Given the description of an element on the screen output the (x, y) to click on. 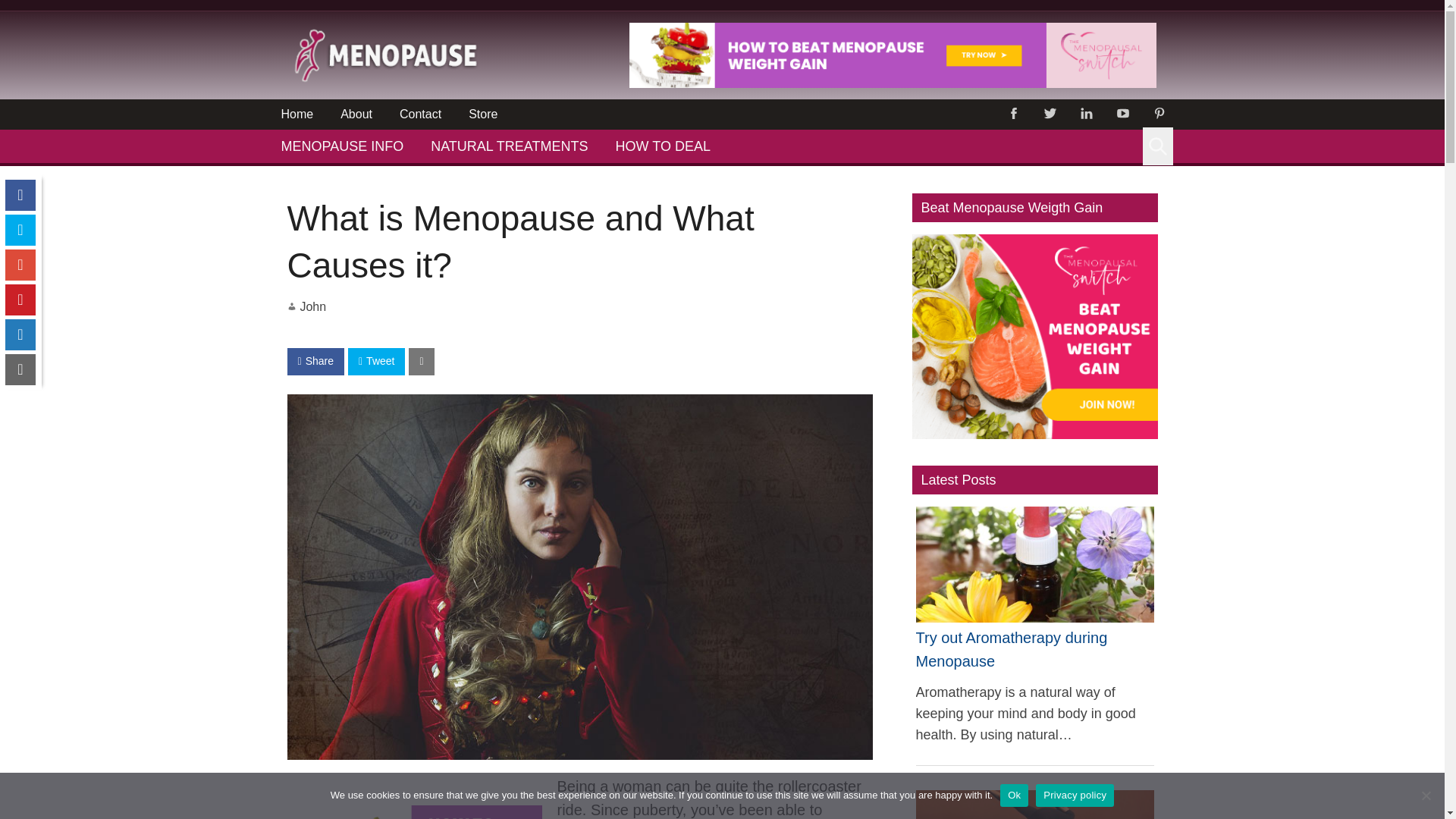
NATURAL TREATMENTS (508, 145)
Home (296, 114)
HOW TO DEAL (662, 145)
Share (314, 361)
Share On Facebook (314, 361)
Menopause Weigth Gain No More (892, 83)
Tweet on Twitter (375, 361)
Tweet (375, 361)
Contact (419, 114)
Menopause Weigth Gain No More (413, 812)
MENOPAUSE INFO (341, 145)
Menopause Weigth Gain No More (892, 54)
John (312, 306)
Store (482, 114)
About (355, 114)
